Given the description of an element on the screen output the (x, y) to click on. 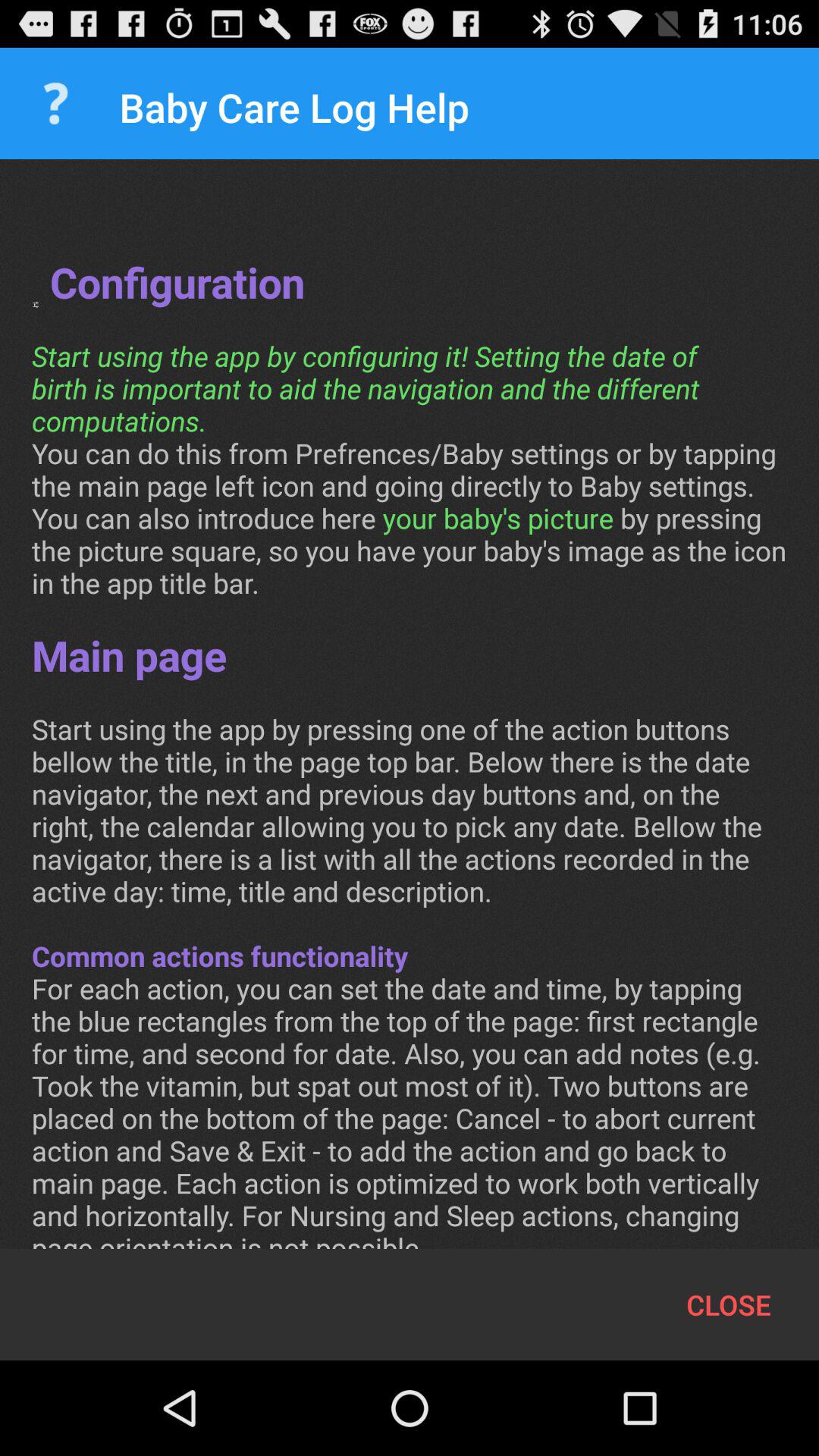
launch item at the bottom right corner (728, 1304)
